Given the description of an element on the screen output the (x, y) to click on. 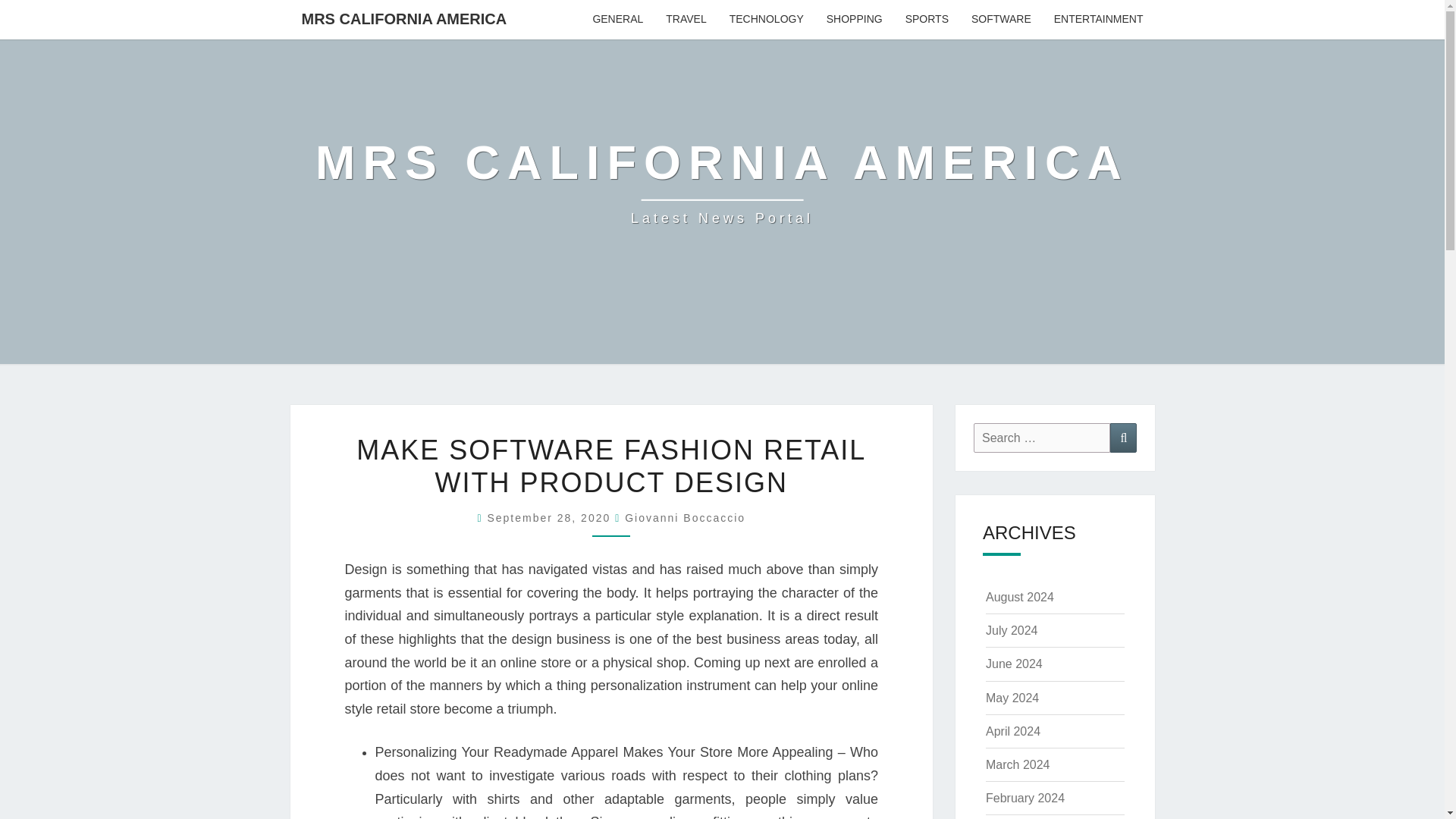
TECHNOLOGY (766, 19)
July 2024 (1011, 630)
February 2024 (1024, 797)
Mrs California America (722, 182)
GENERAL (616, 19)
April 2024 (1013, 730)
View all posts by Giovanni Boccaccio (684, 517)
SHOPPING (854, 19)
May 2024 (1012, 697)
August 2024 (1019, 596)
